Given the description of an element on the screen output the (x, y) to click on. 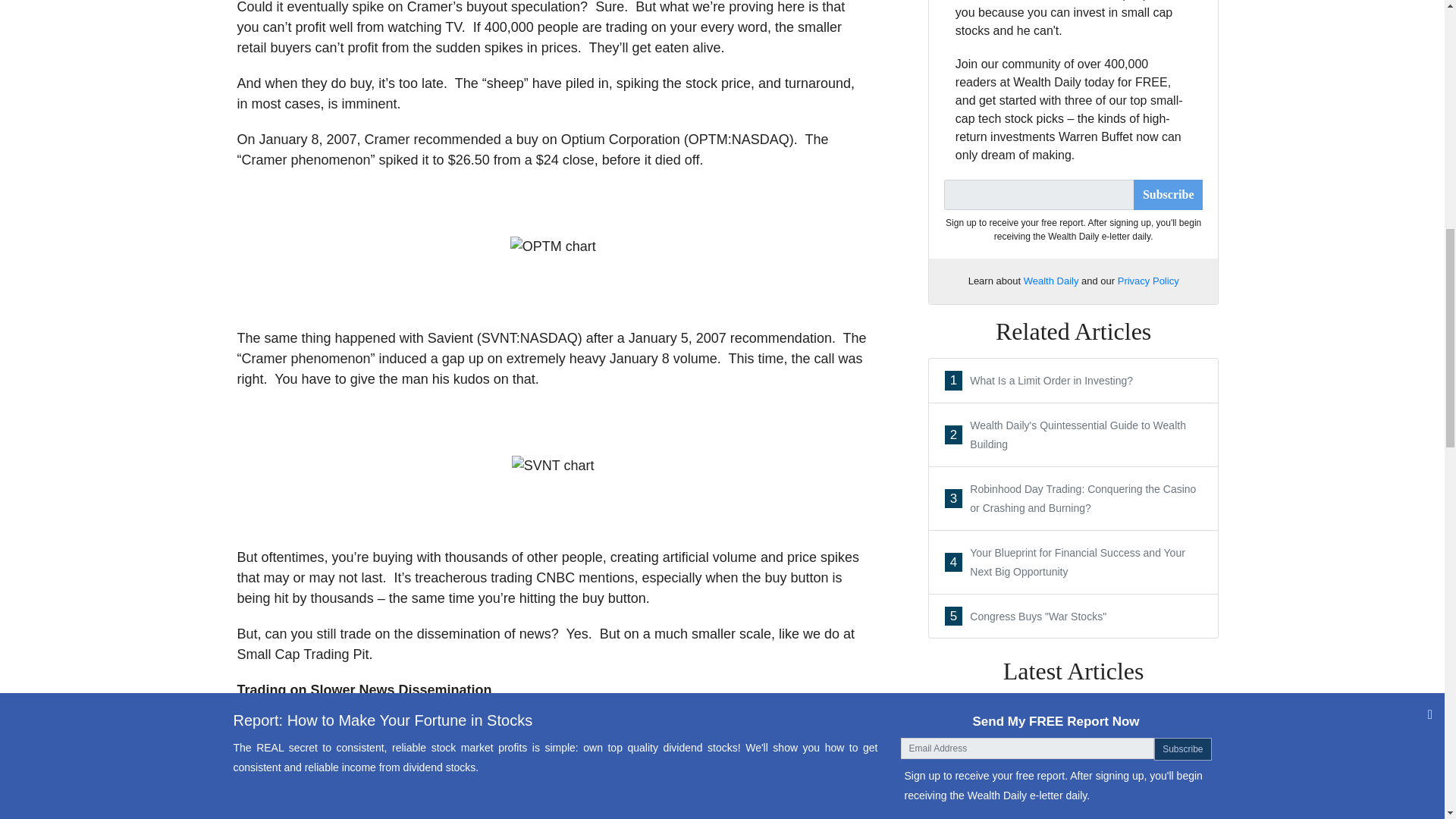
Wealth Daily (1074, 774)
OPTM chart (1074, 616)
Privacy Policy (1050, 280)
SVNT chart (553, 246)
Subscribe (1148, 280)
